Given the description of an element on the screen output the (x, y) to click on. 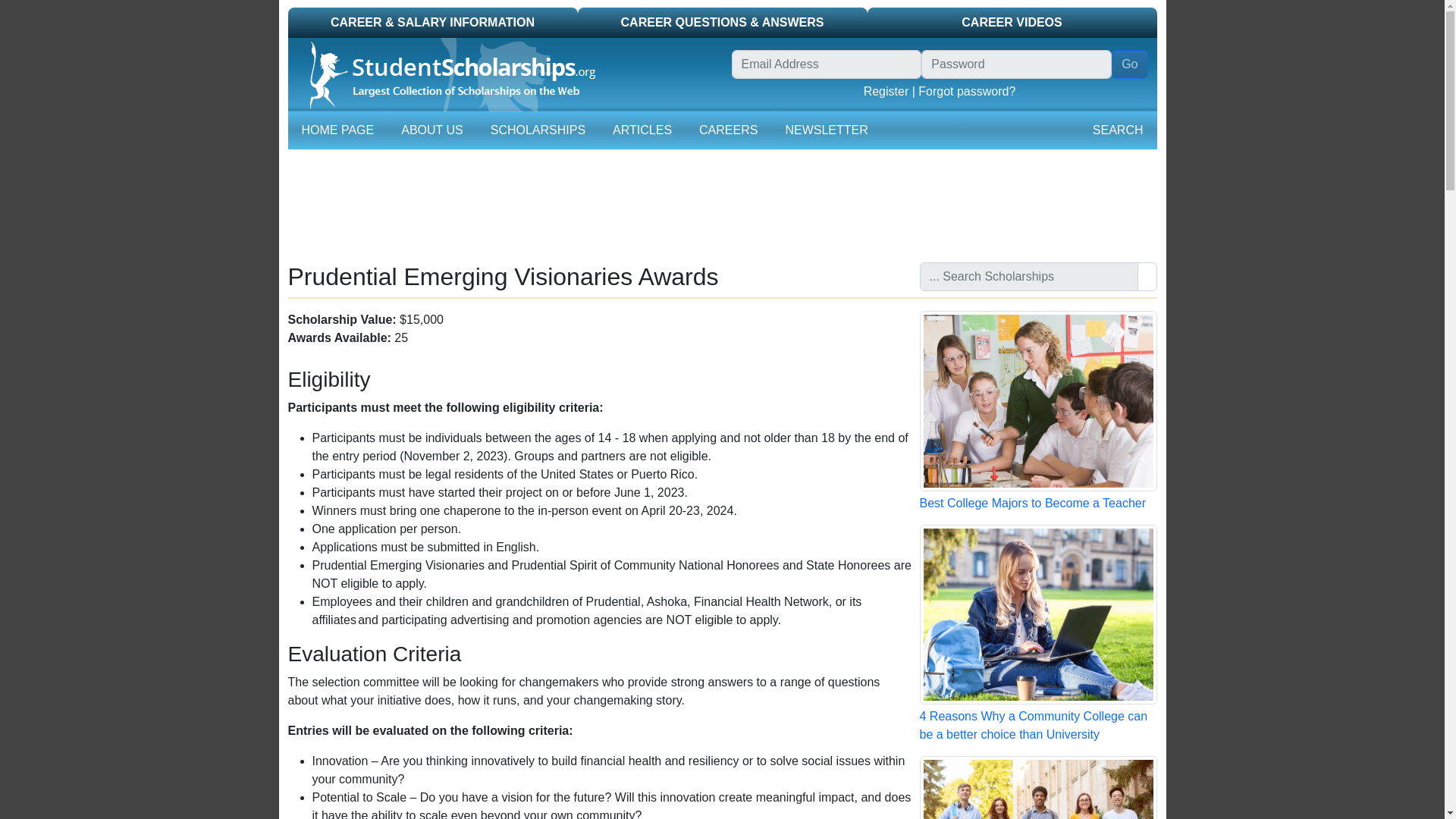
CAREERS (727, 130)
ARTICLES (642, 130)
SCHOLARSHIPS (537, 130)
SEARCH (1118, 130)
NEWSLETTER (825, 130)
Go (1129, 63)
CAREER VIDEOS (1012, 22)
HOME PAGE (337, 130)
Forgot password? (966, 91)
Student Scholarships (505, 74)
ABOUT US (431, 130)
StudentScholarships (446, 74)
Register (885, 91)
